Given the description of an element on the screen output the (x, y) to click on. 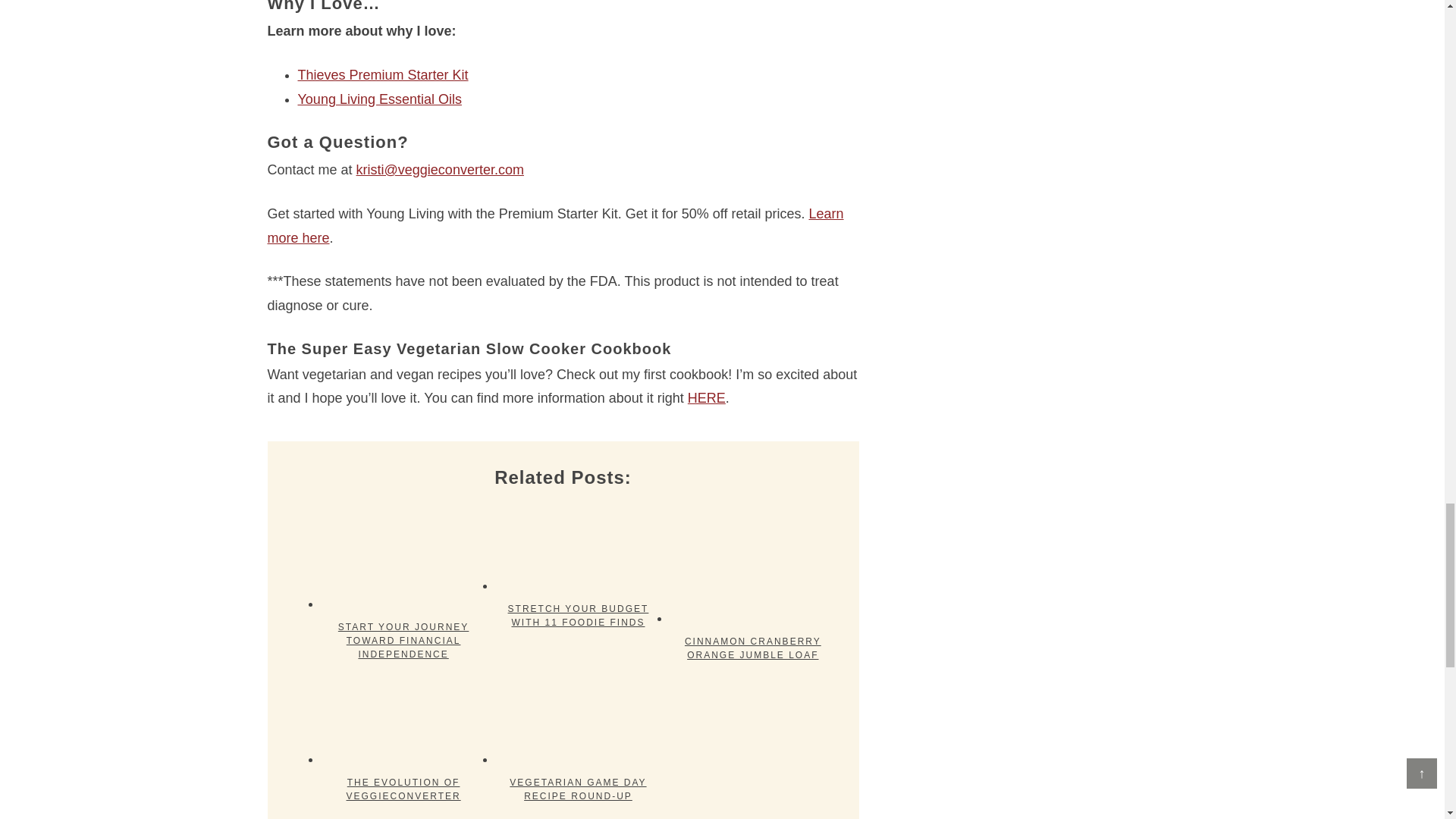
Thieves Premium Starter Kit (382, 74)
The Evolution of VeggieConverter (403, 720)
Vegetarian Game Day Recipe Round-up (578, 720)
Young Living Essential Oils (379, 99)
Start Your Journey Toward Financial Independence (403, 556)
Cinnamon Cranberry Orange Jumble Loaf (751, 563)
Stretch Your Budget with 11 Foodie Finds (578, 547)
